Given the description of an element on the screen output the (x, y) to click on. 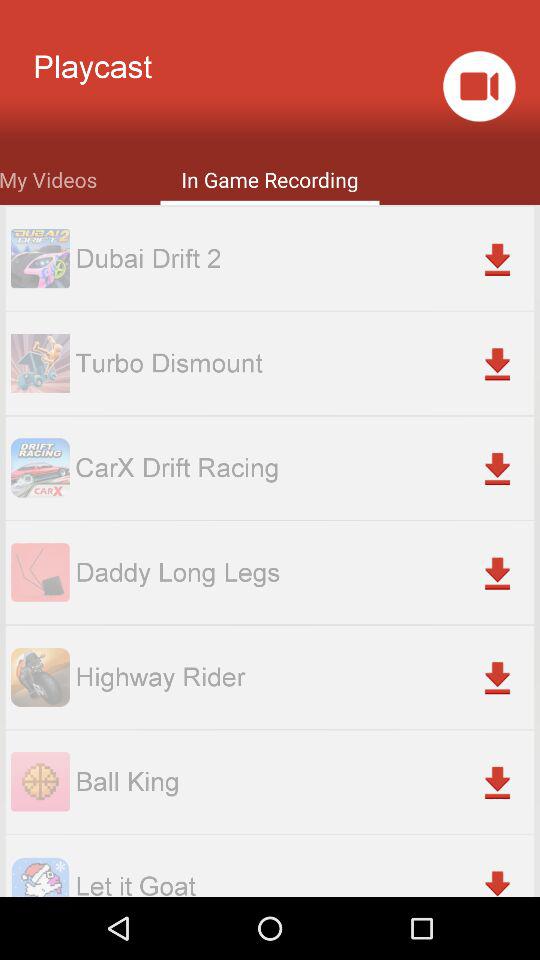
jump until ball king (304, 781)
